Given the description of an element on the screen output the (x, y) to click on. 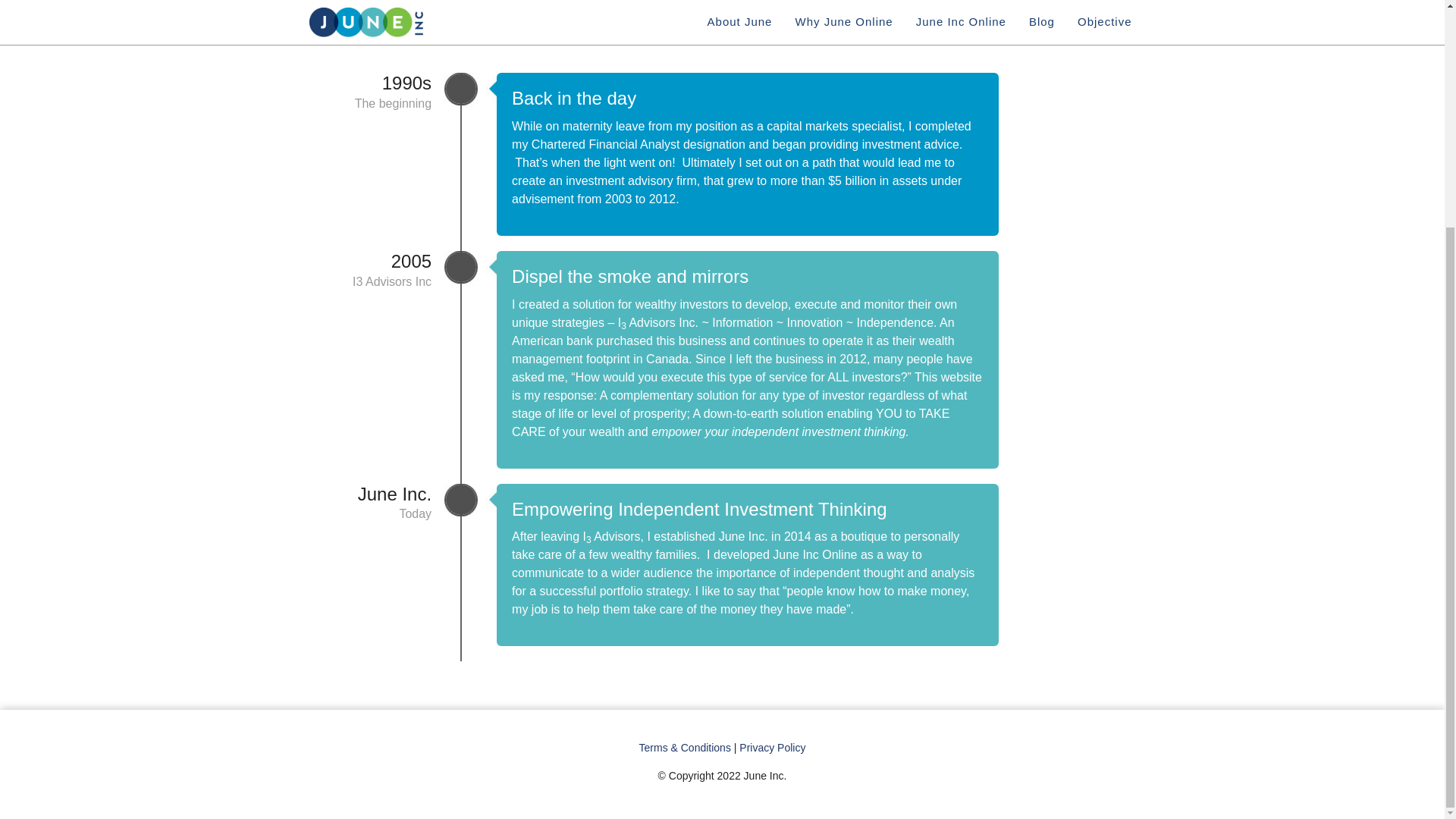
Privacy Policy (772, 747)
